Given the description of an element on the screen output the (x, y) to click on. 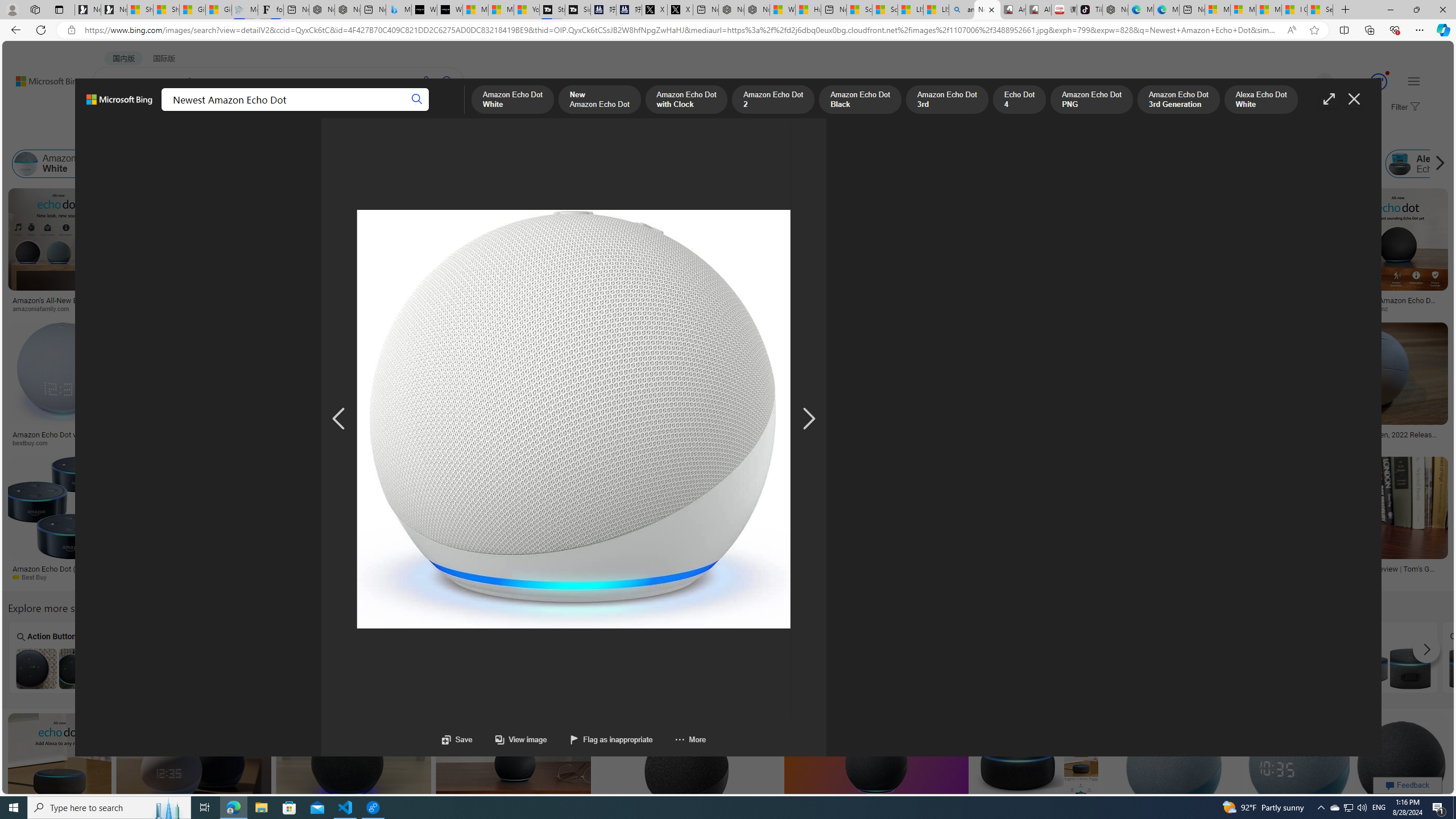
Amazon Echo Dot 1 Generation 1 Generation (1184, 656)
parade.com (137, 308)
bestbuy.com (399, 442)
Amazon Echo Dot Action Button (57, 668)
geizhals.de (814, 576)
Amazon Echo Dot (2019) | TechRadar (652, 568)
Amazon Echo Dot (4th gen) review | Tom's Guide (1363, 572)
Amazon Echo Dot (4th Gen) (689, 227)
Amazon Echo Dot 1st Generation (467, 668)
VIDEOS (260, 111)
Amazon Echo Dot 4th Gen Smart Speaker with Alexa (1080, 668)
